Given the description of an element on the screen output the (x, y) to click on. 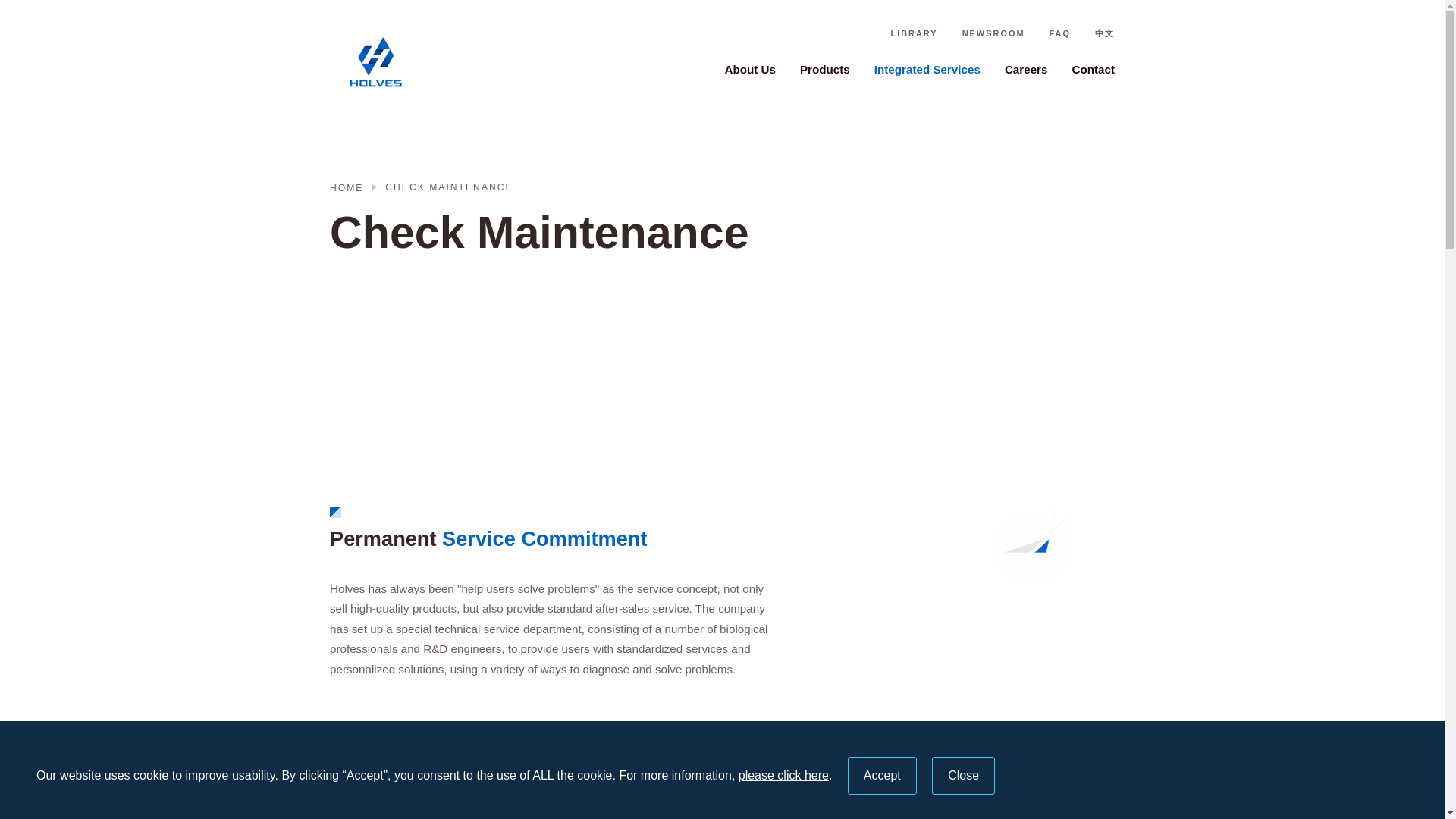
Contact (1093, 69)
About Us (749, 69)
Integrated Services (927, 69)
Products (824, 69)
LIBRARY (913, 33)
logo (405, 62)
Careers (1026, 69)
NEWSROOM (993, 33)
HOME (349, 186)
